Given the description of an element on the screen output the (x, y) to click on. 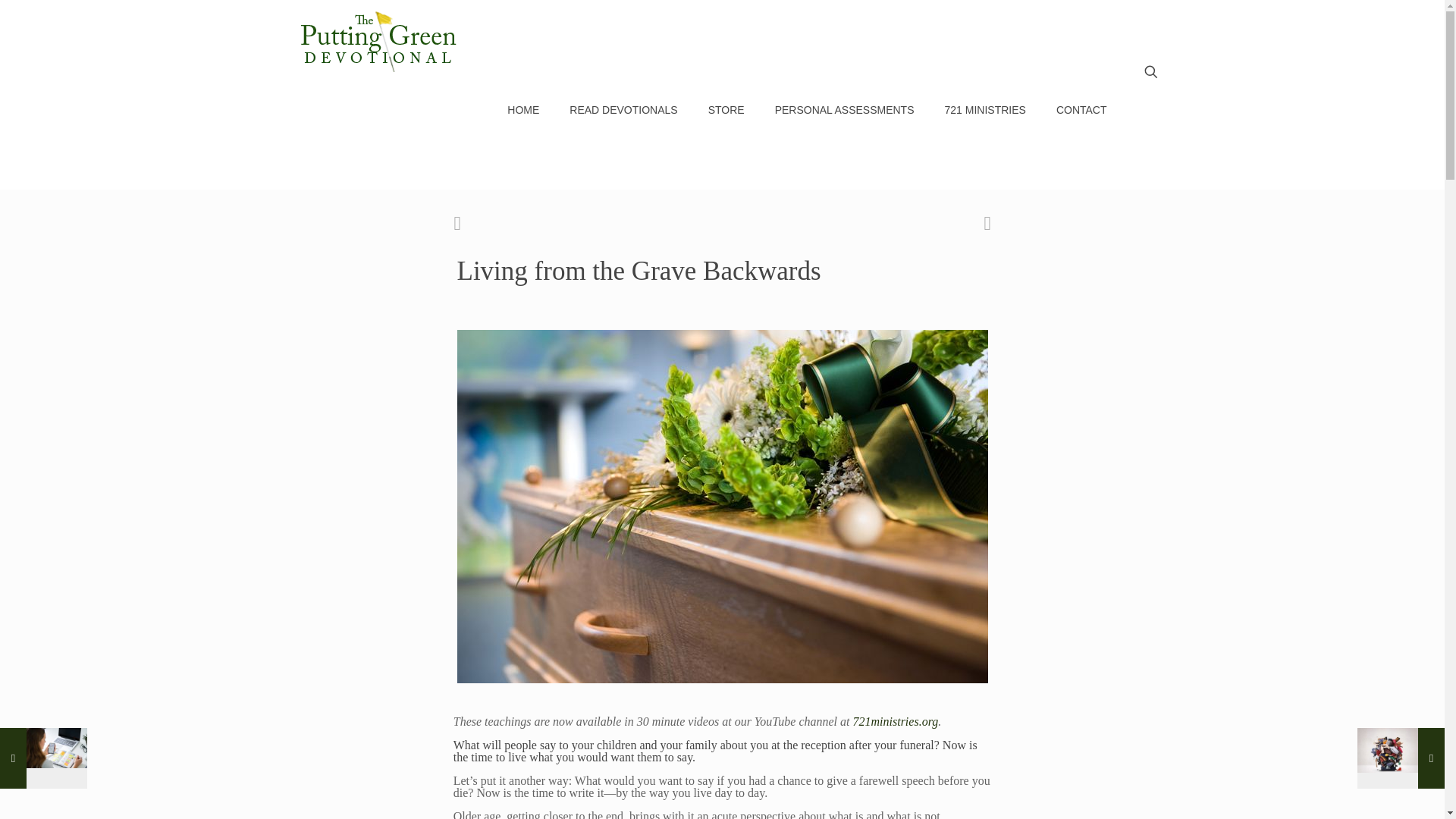
The Putting Green Blog (379, 38)
HOME (523, 110)
PERSONAL ASSESSMENTS (845, 110)
CONTACT (1081, 110)
STORE (726, 110)
721ministries.org (896, 721)
READ DEVOTIONALS (623, 110)
721 MINISTRIES (985, 110)
